Given the description of an element on the screen output the (x, y) to click on. 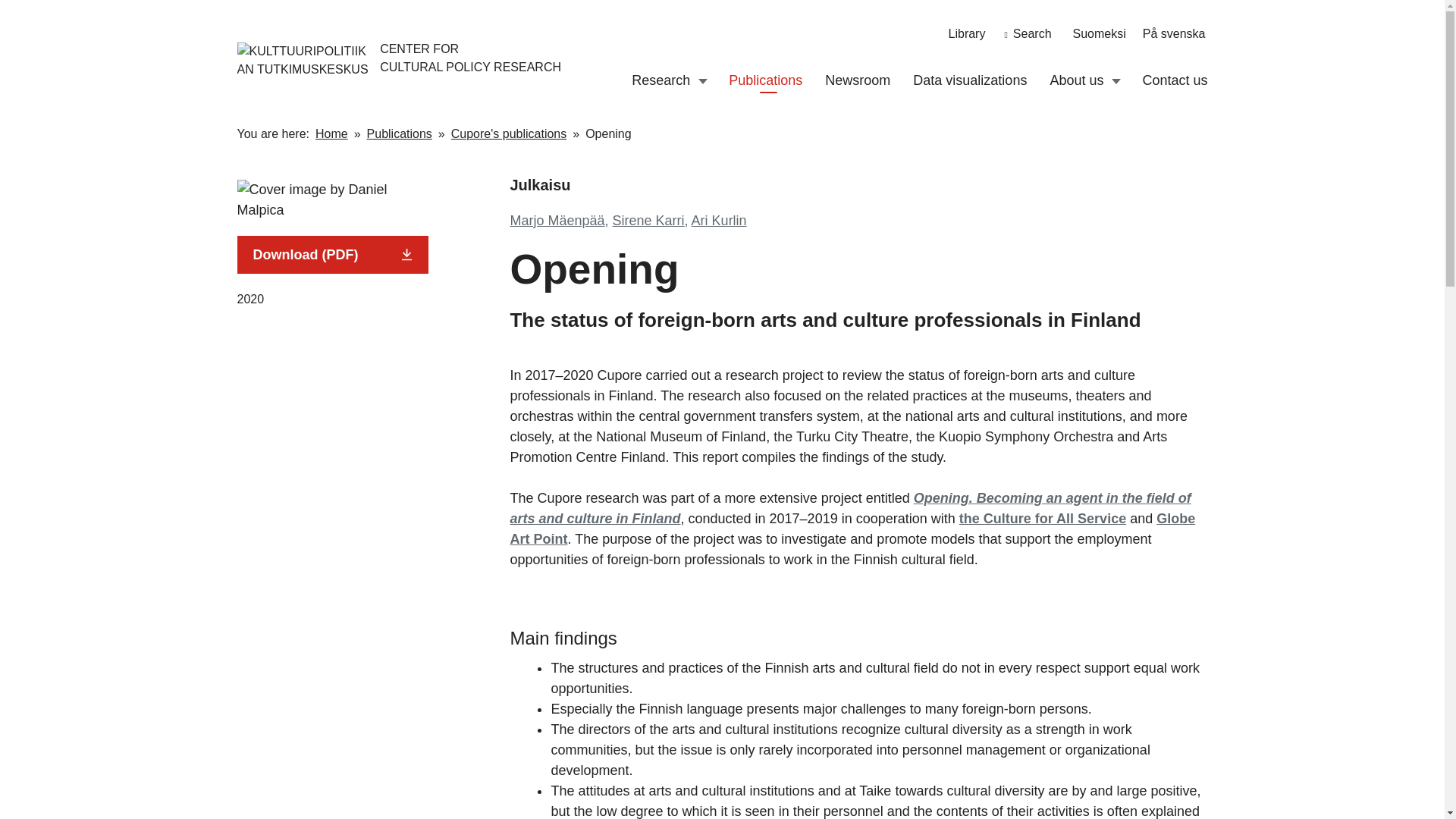
Cupore's publications (508, 133)
the Culture for All Service (1042, 518)
Sirene Karri (648, 220)
Data visualizations (969, 80)
Research (660, 80)
Open Menu (702, 80)
Open Menu (1115, 80)
About us (1076, 80)
Ari Kurlin (718, 220)
Suomeksi (1099, 33)
